Given the description of an element on the screen output the (x, y) to click on. 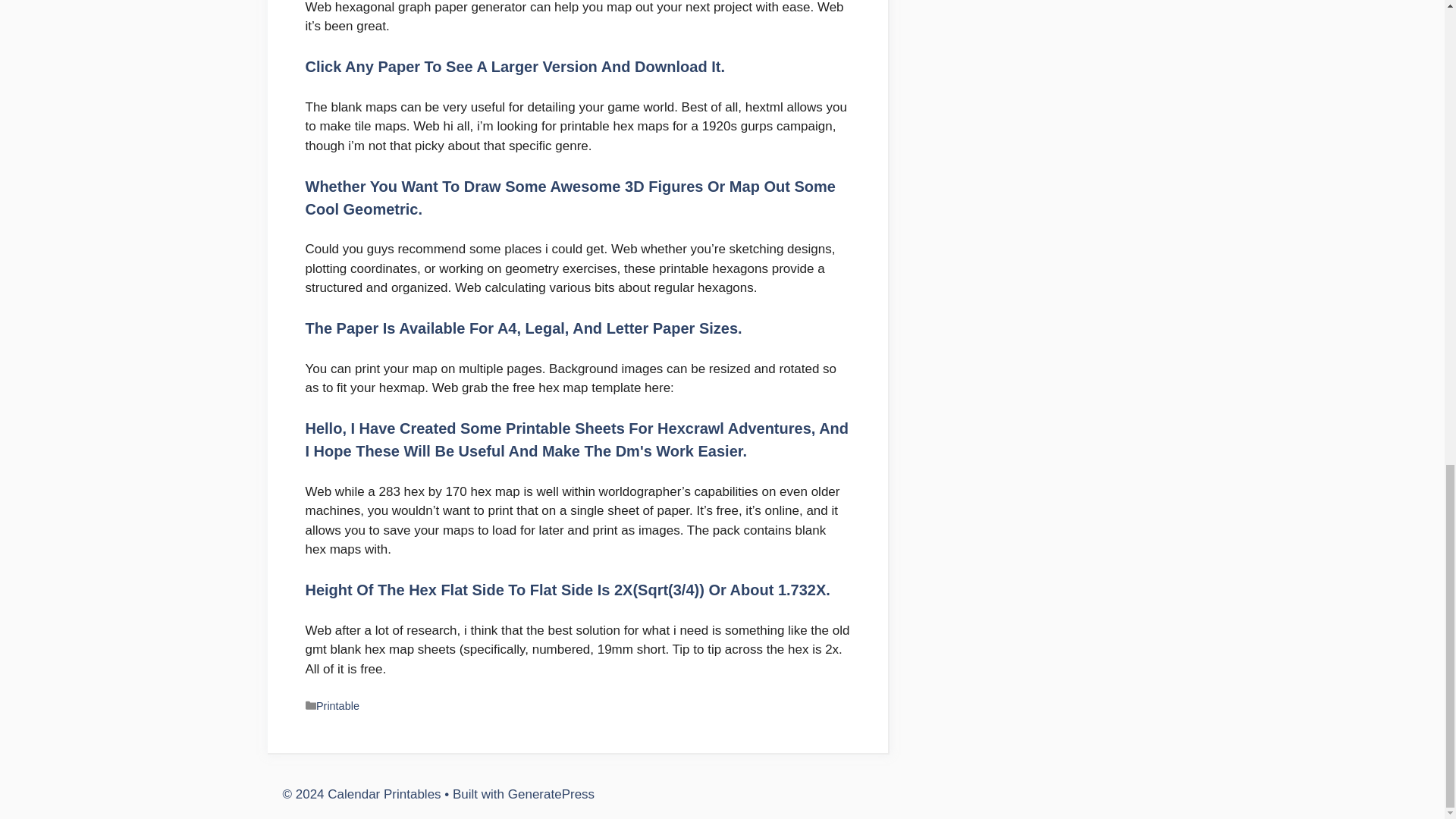
GeneratePress (551, 794)
Printable (337, 705)
